Given the description of an element on the screen output the (x, y) to click on. 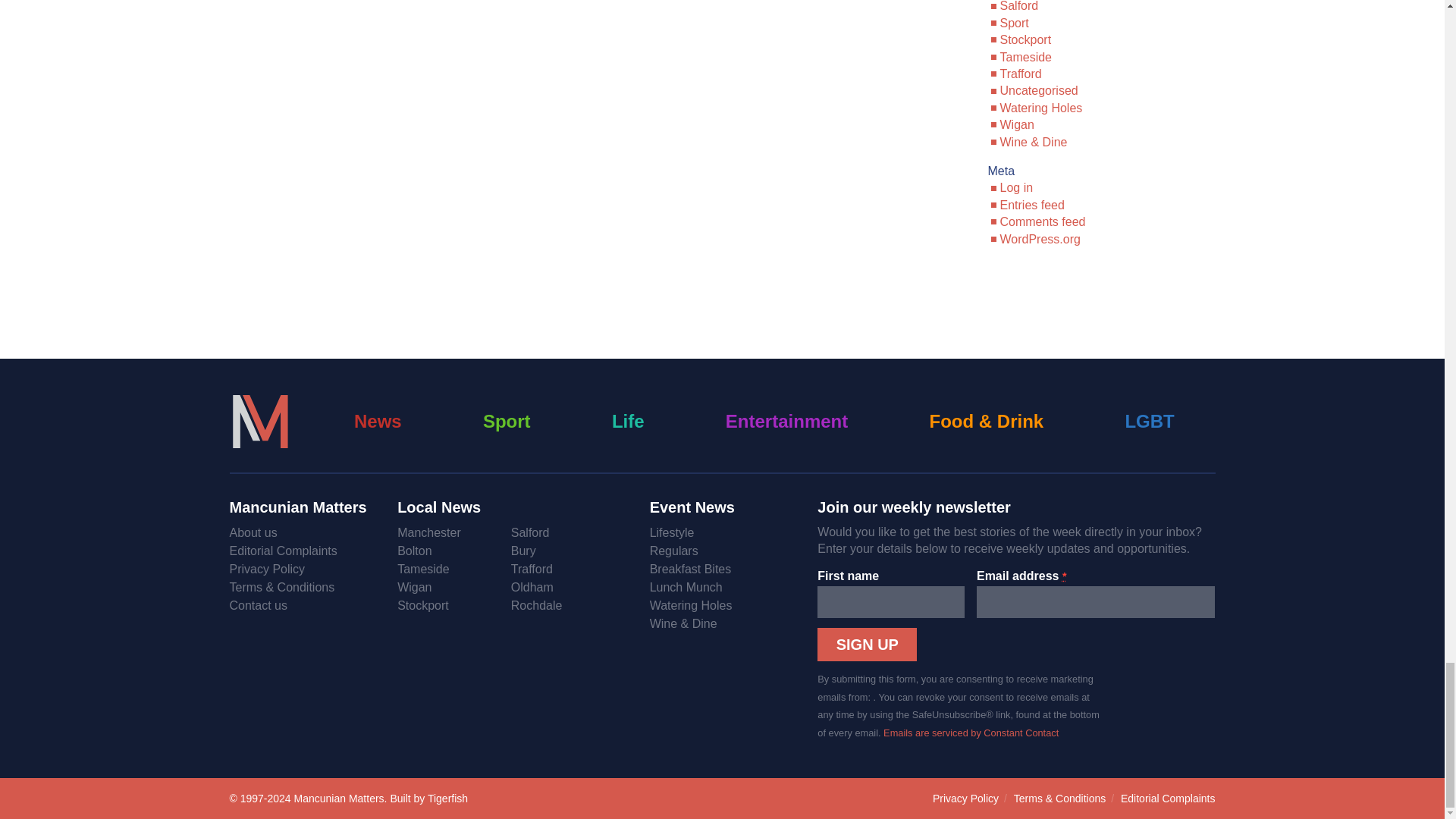
3rd party ad content (721, 305)
Sign up (866, 644)
